Given the description of an element on the screen output the (x, y) to click on. 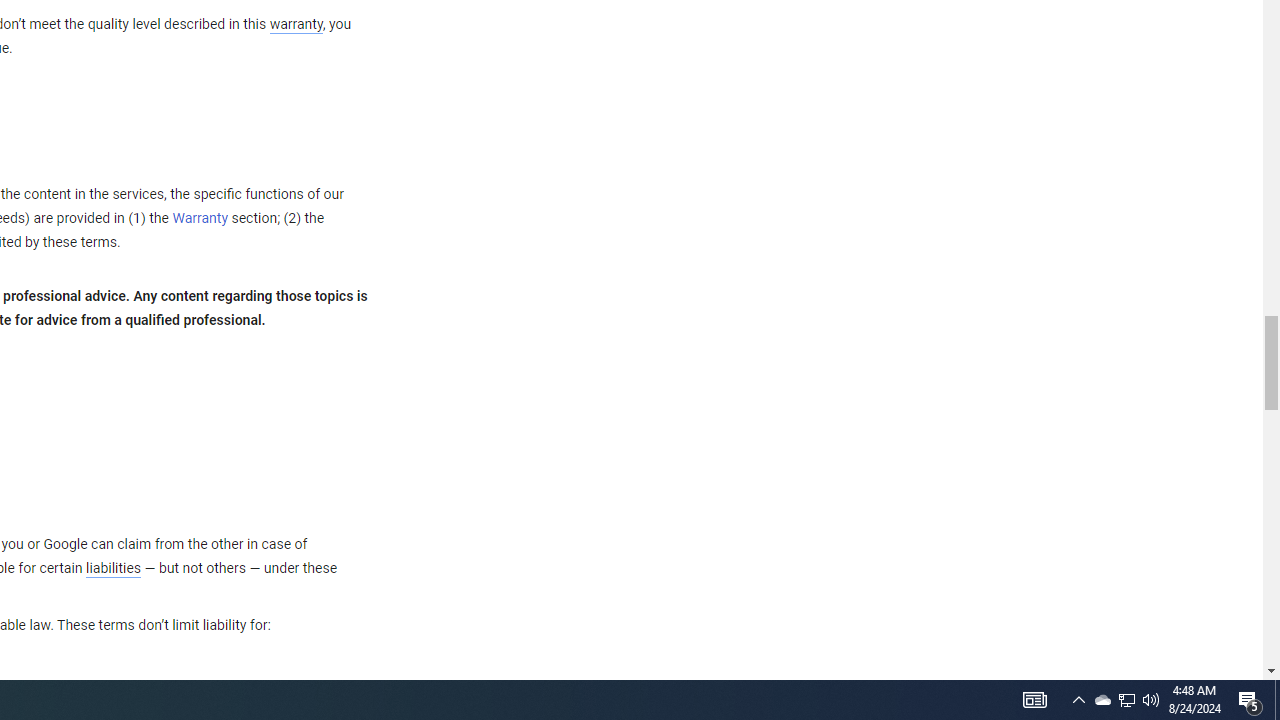
Warranty (200, 219)
liabilities (113, 568)
warranty (295, 25)
